Given the description of an element on the screen output the (x, y) to click on. 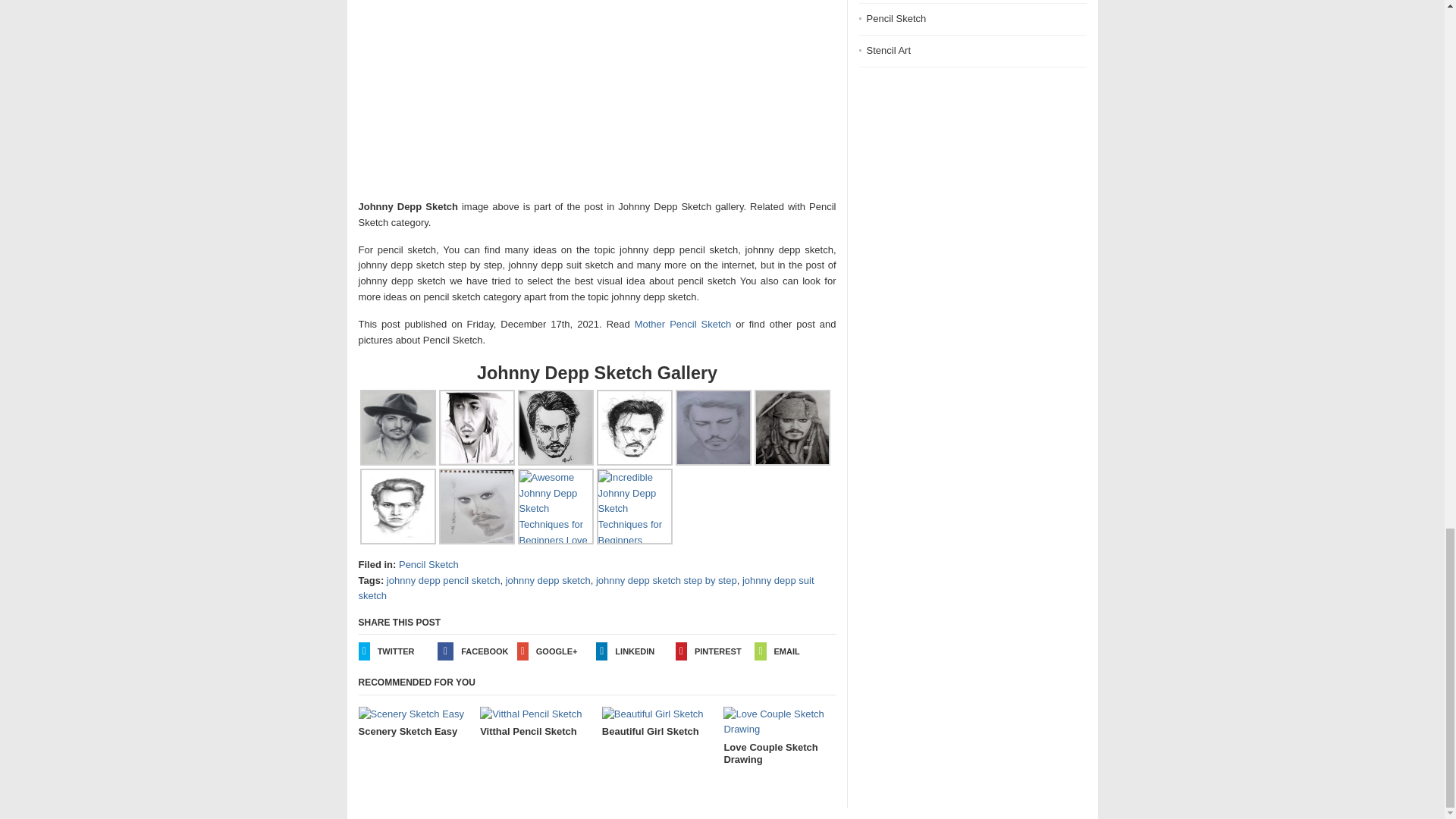
Love Couple Sketch Drawing (779, 736)
EMAIL (794, 651)
johnny depp suit sketch (585, 587)
LINKEDIN (635, 651)
Pencil Sketch (428, 564)
johnny depp sketch (548, 580)
Scenery Sketch Easy (414, 722)
PINTEREST (715, 651)
Vitthal Pencil Sketch (536, 722)
TWITTER (398, 651)
Beautiful Girl Sketch (658, 722)
Mother Pencil Sketch (683, 324)
johnny depp sketch step by step (665, 580)
FACEBOOK (477, 651)
johnny depp pencil sketch (443, 580)
